Given the description of an element on the screen output the (x, y) to click on. 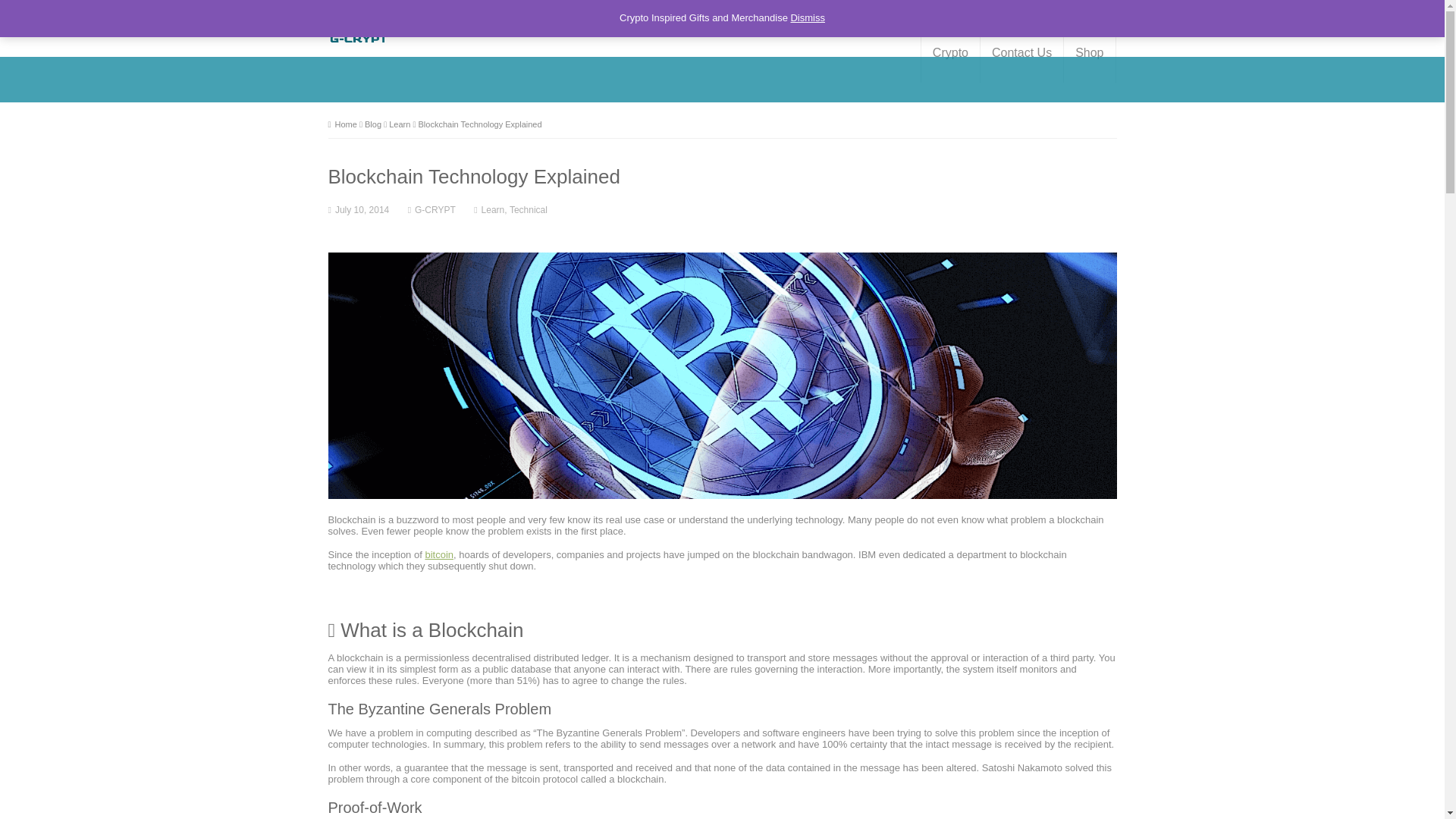
Crypto (950, 52)
View your shopping cart (743, 10)
Posts by G-CRYPT (434, 210)
Bitcoin (343, 10)
Twitter (1090, 11)
Blog (373, 123)
NFT (526, 10)
DeFi (555, 10)
G-CRYPT (434, 210)
bitcoin (438, 554)
Contact Us (1020, 52)
Home (341, 123)
Top 10 (381, 10)
YouTube (1108, 11)
G-CRYPT (357, 38)
